Given the description of an element on the screen output the (x, y) to click on. 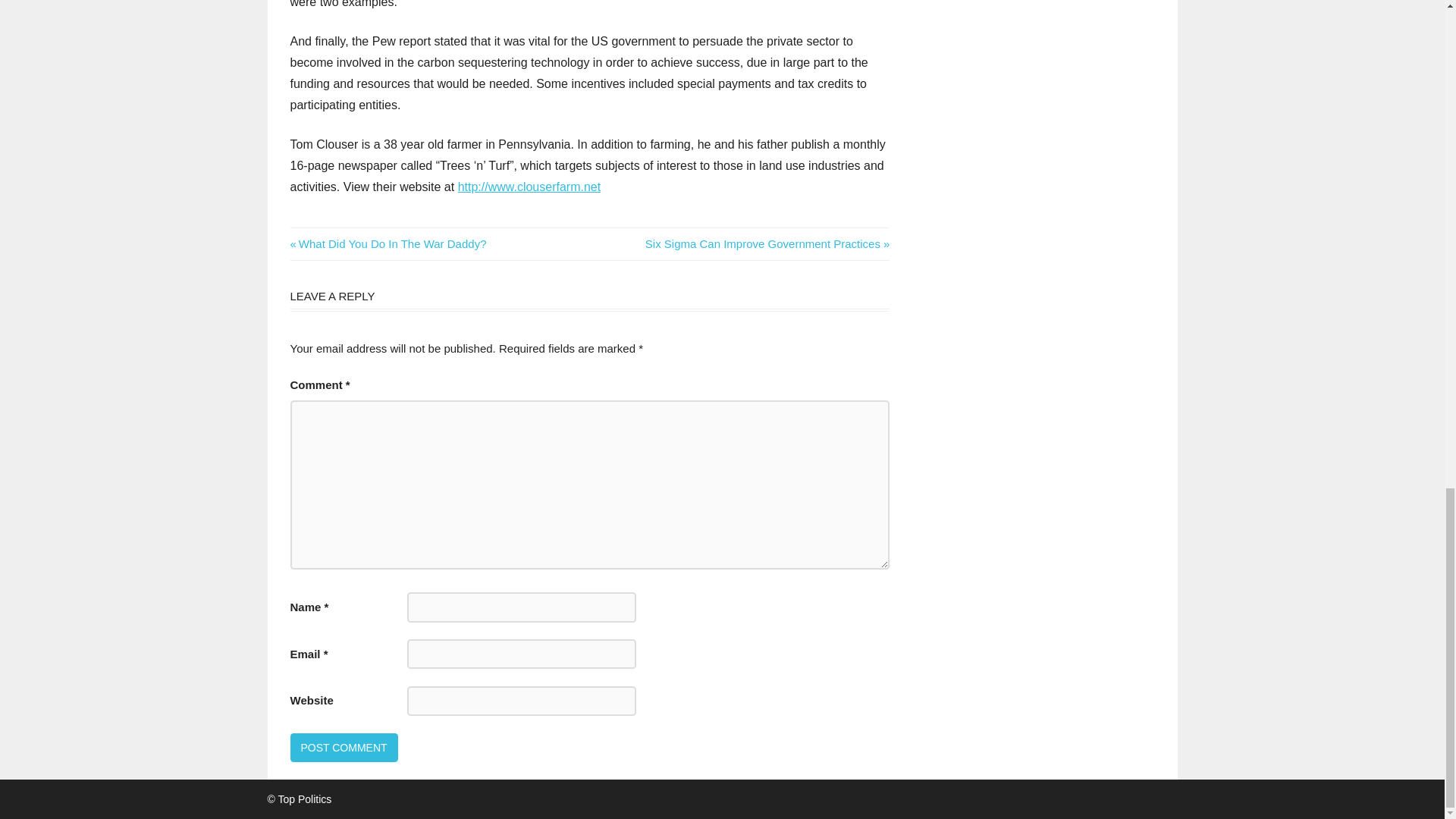
Post Comment (767, 243)
Post Comment (387, 243)
